Given the description of an element on the screen output the (x, y) to click on. 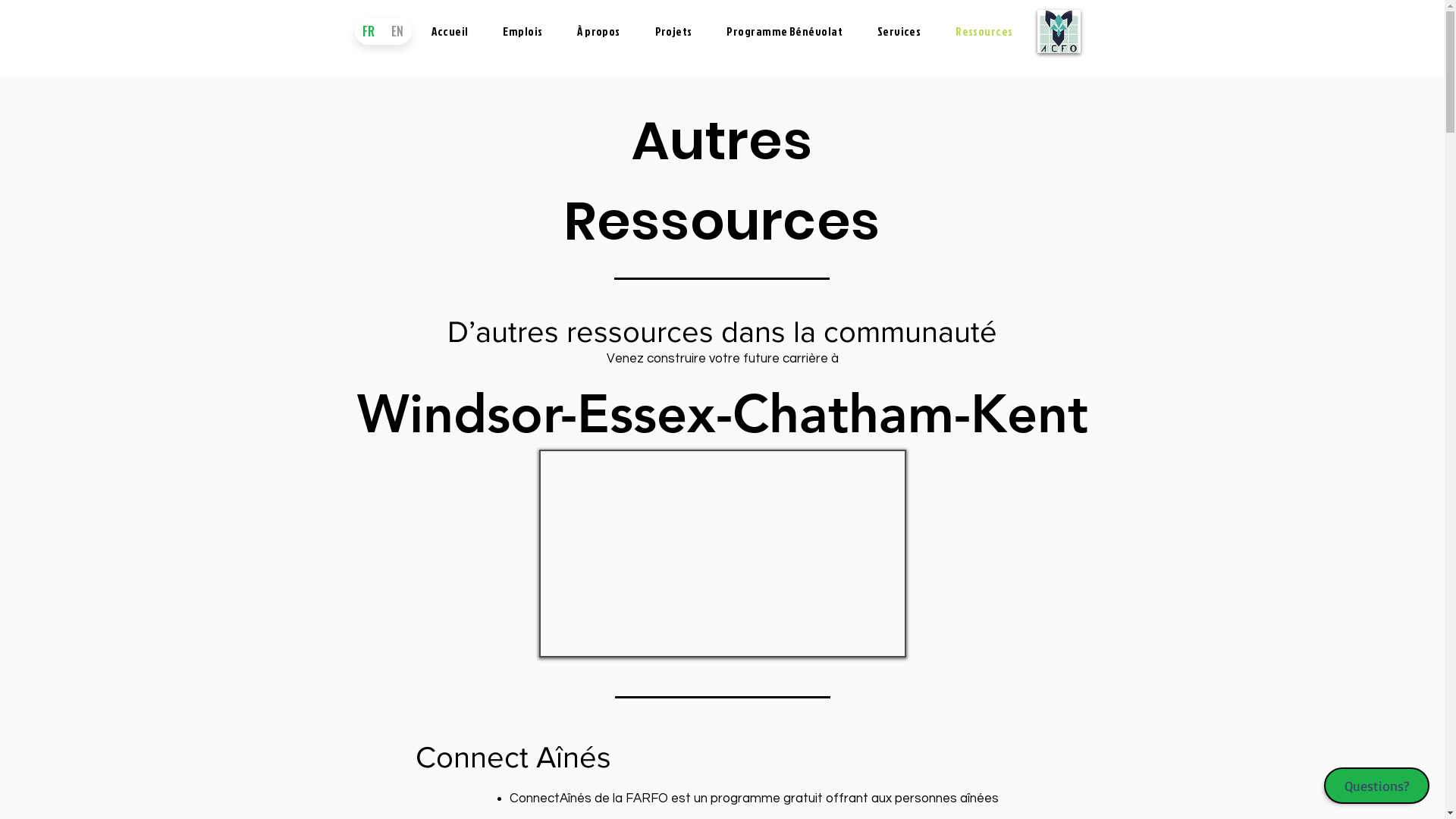
Services Element type: text (898, 31)
Projets Element type: text (673, 31)
Accueil Element type: text (449, 31)
Questions? Element type: text (1376, 785)
Ressources Element type: text (983, 31)
Emplois Element type: text (522, 31)
